Given the description of an element on the screen output the (x, y) to click on. 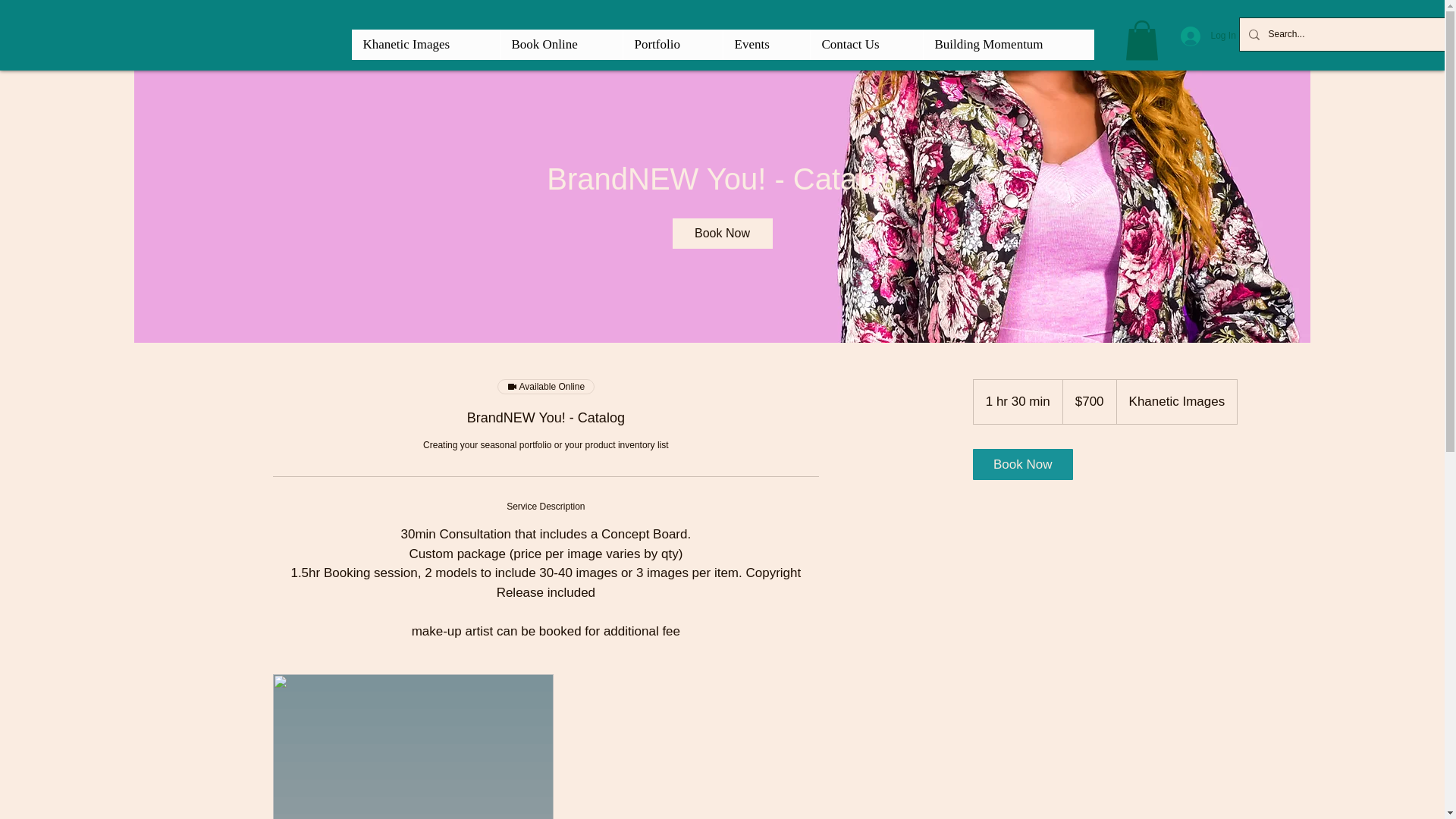
Events (765, 44)
Khanetic Images (425, 44)
Book Now (1022, 463)
Book Now (721, 233)
Book Online (560, 44)
Contact Us (866, 44)
Portfolio (671, 44)
Log In (1207, 35)
Building Momentum (1007, 44)
